Given the description of an element on the screen output the (x, y) to click on. 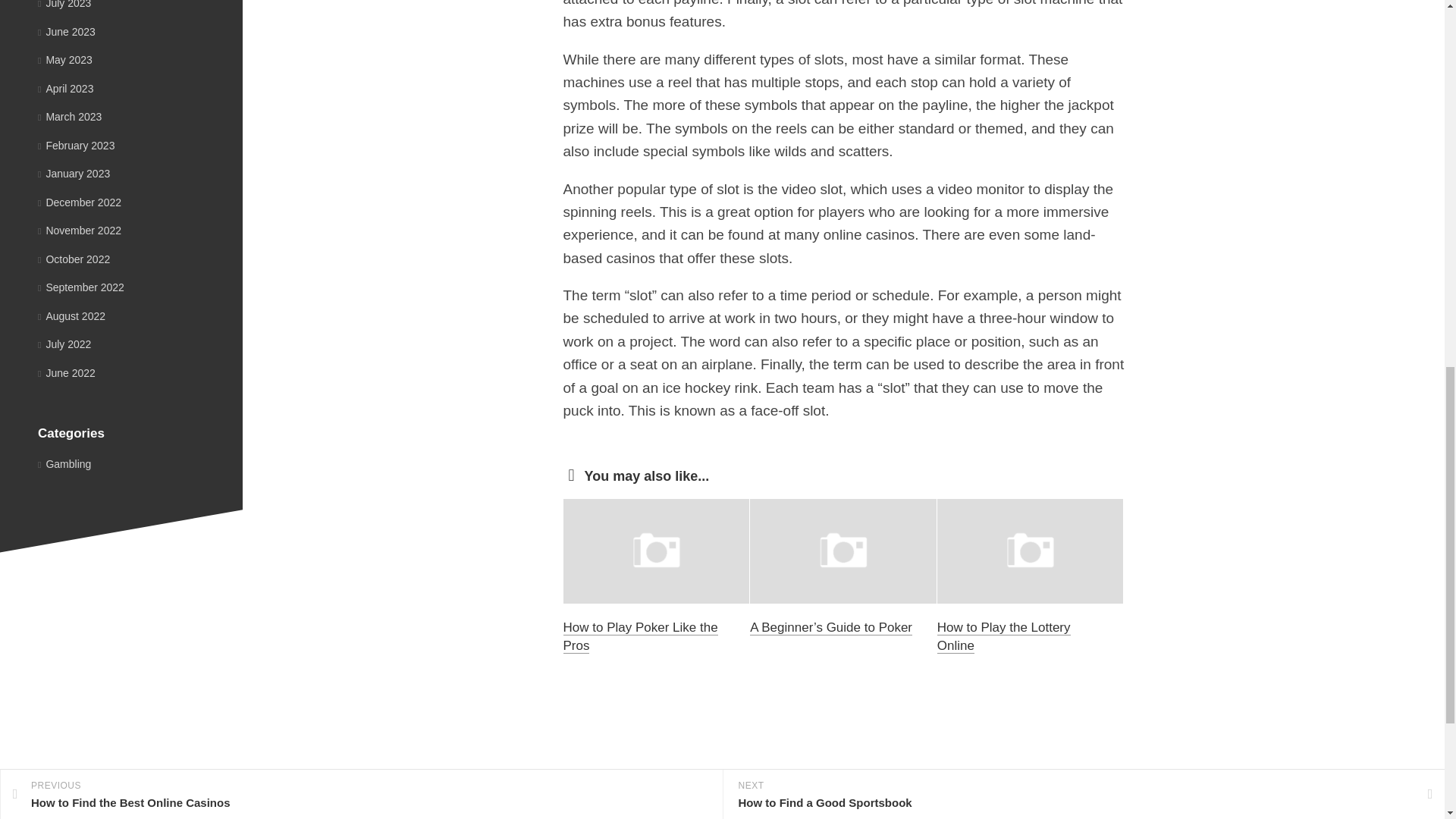
January 2023 (73, 173)
December 2022 (78, 201)
March 2023 (69, 116)
November 2022 (78, 230)
February 2023 (76, 145)
How to Play the Lottery Online (1003, 635)
April 2023 (65, 87)
July 2023 (63, 4)
September 2022 (80, 287)
June 2023 (66, 31)
